Given the description of an element on the screen output the (x, y) to click on. 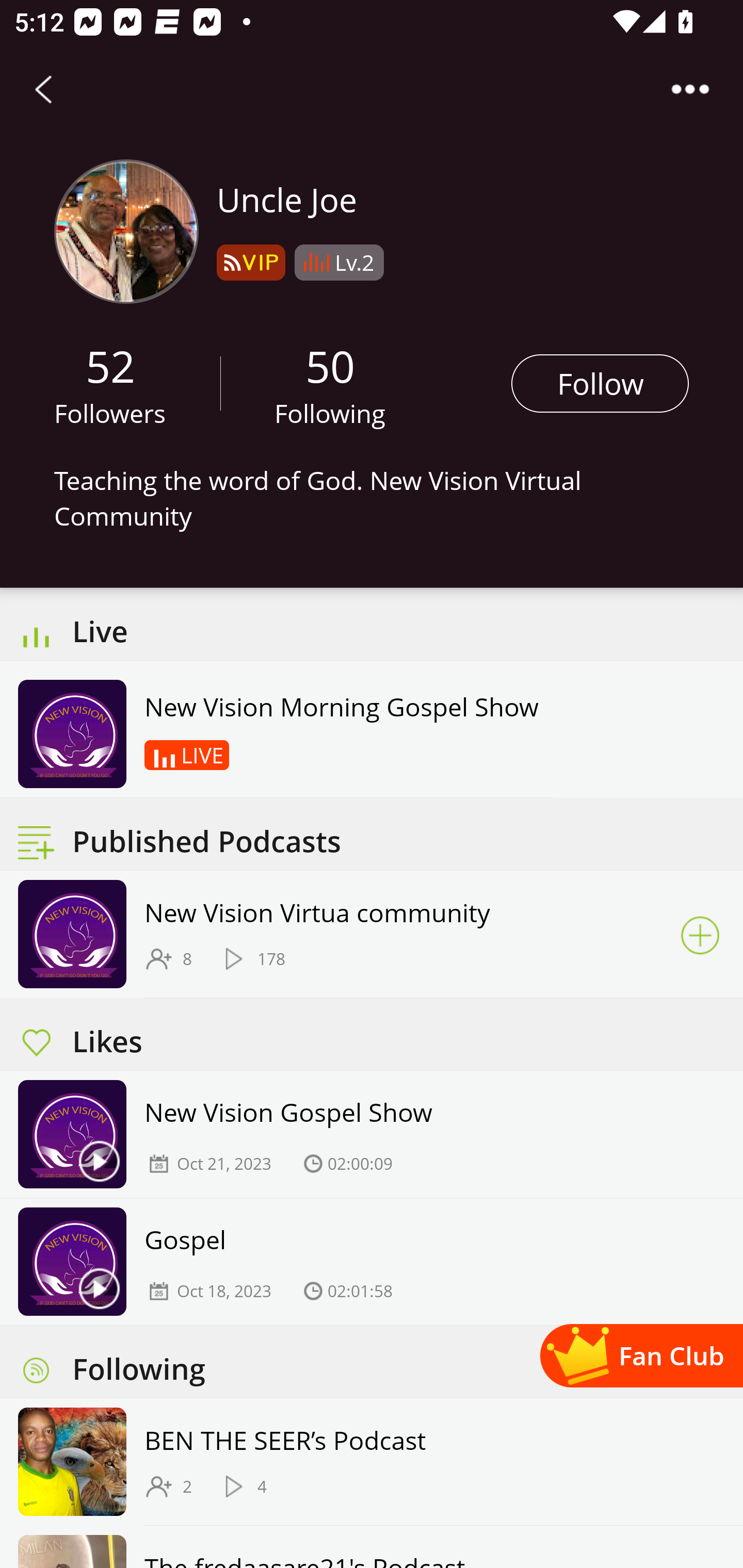
52 (110, 365)
50 (330, 365)
Follow (599, 383)
Followers (110, 413)
Following (329, 413)
New Vision Morning Gospel Show LIVE (285, 729)
New Vision Virtua community 8 178 (371, 934)
New Vision Gospel Show Oct 21, 2023 02:00:09 (371, 1133)
Gospel Oct 18, 2023 02:01:58 (371, 1260)
Fan Club (641, 1355)
BEN THE SEER’s Podcast 2 4 (371, 1461)
